Given the description of an element on the screen output the (x, y) to click on. 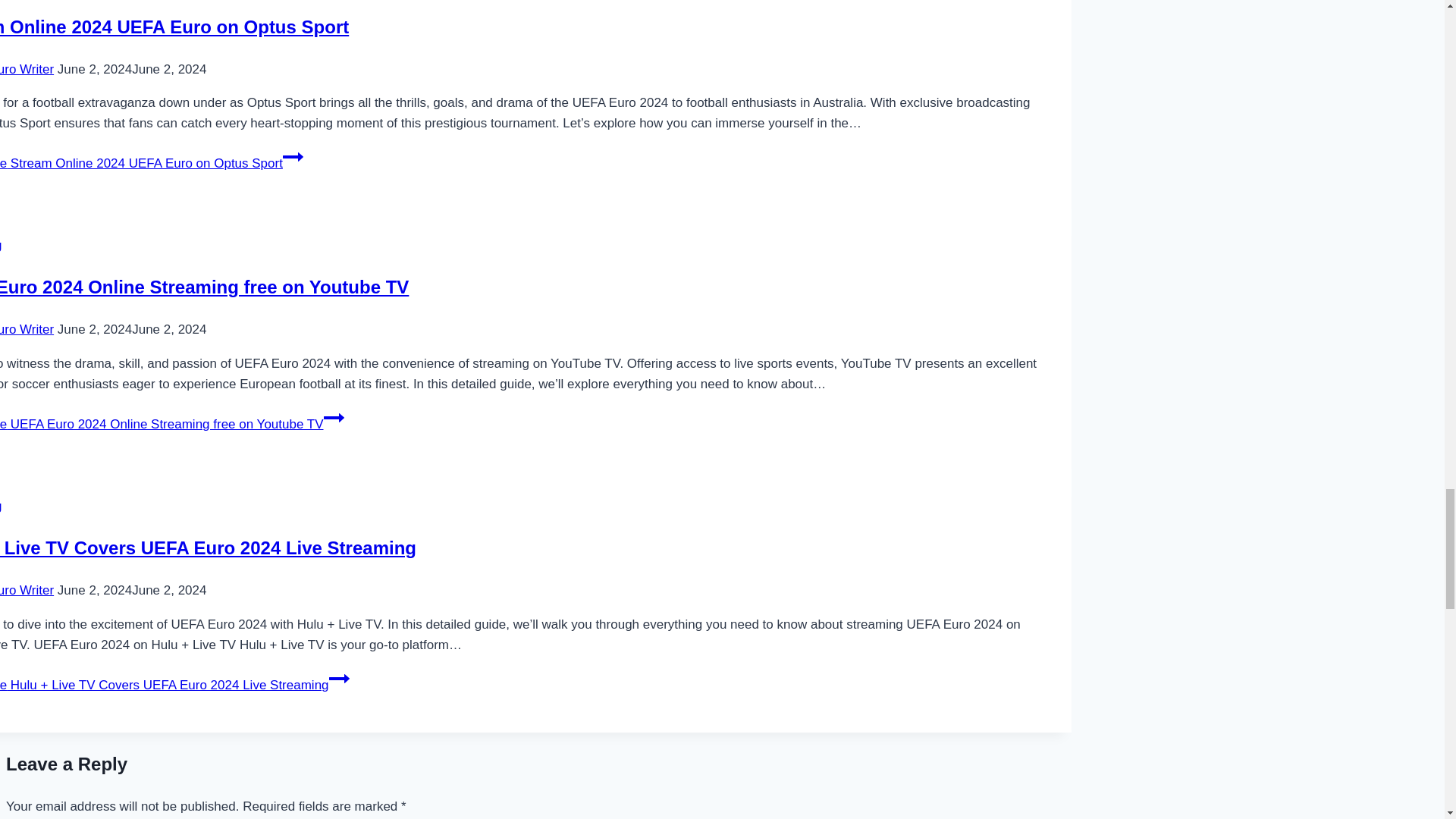
Continue (339, 678)
Continue (333, 417)
Continue (292, 156)
Uefa Euro Writer (26, 69)
Stream Online 2024 UEFA Euro on Optus Sport (174, 26)
